Given the description of an element on the screen output the (x, y) to click on. 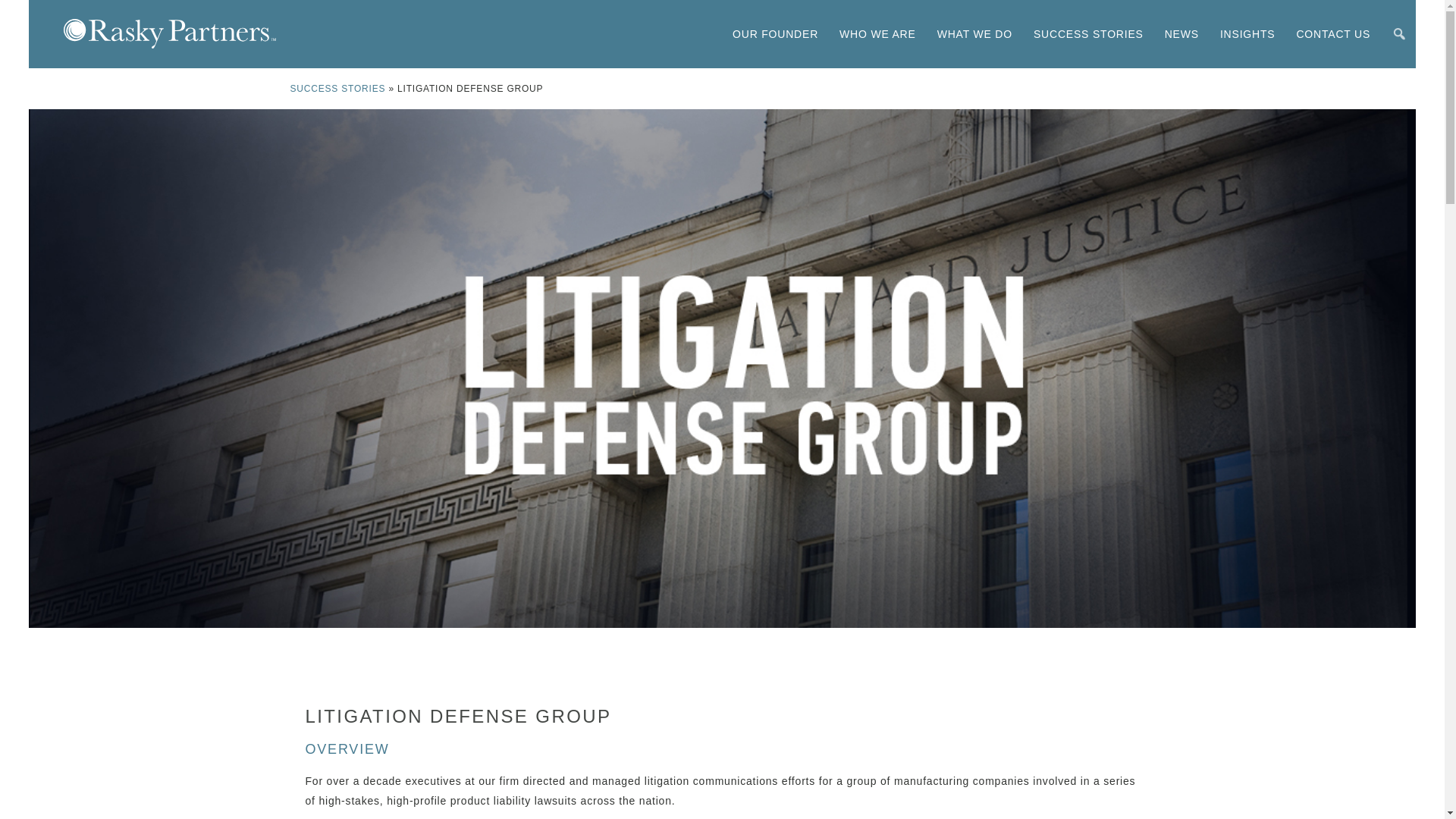
PREVIOUS PROJECT (395, 687)
SUCCESS STORIES (337, 88)
WHAT WE DO (974, 34)
WHO WE ARE (877, 34)
OUR FOUNDER (775, 34)
NEWS (1181, 34)
RASKY PARTNERS, INC. (170, 33)
CONTACT US (1332, 34)
INSIGHTS (1247, 34)
SUCCESS STORIES (1088, 34)
